Given the description of an element on the screen output the (x, y) to click on. 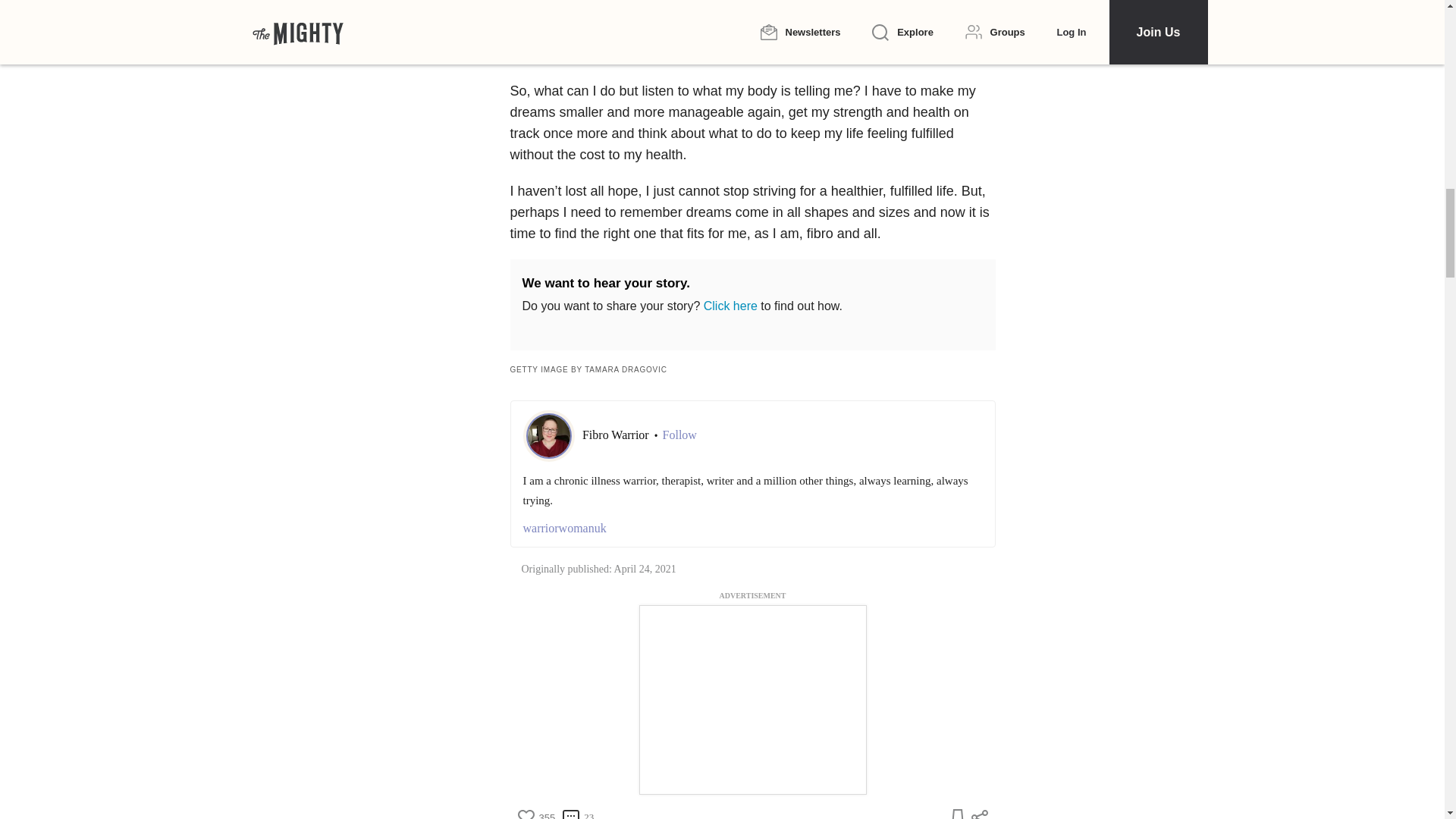
Click here (730, 305)
warriorwomanuk (752, 528)
Fibro Warrior (617, 434)
Follow (679, 435)
